Given the description of an element on the screen output the (x, y) to click on. 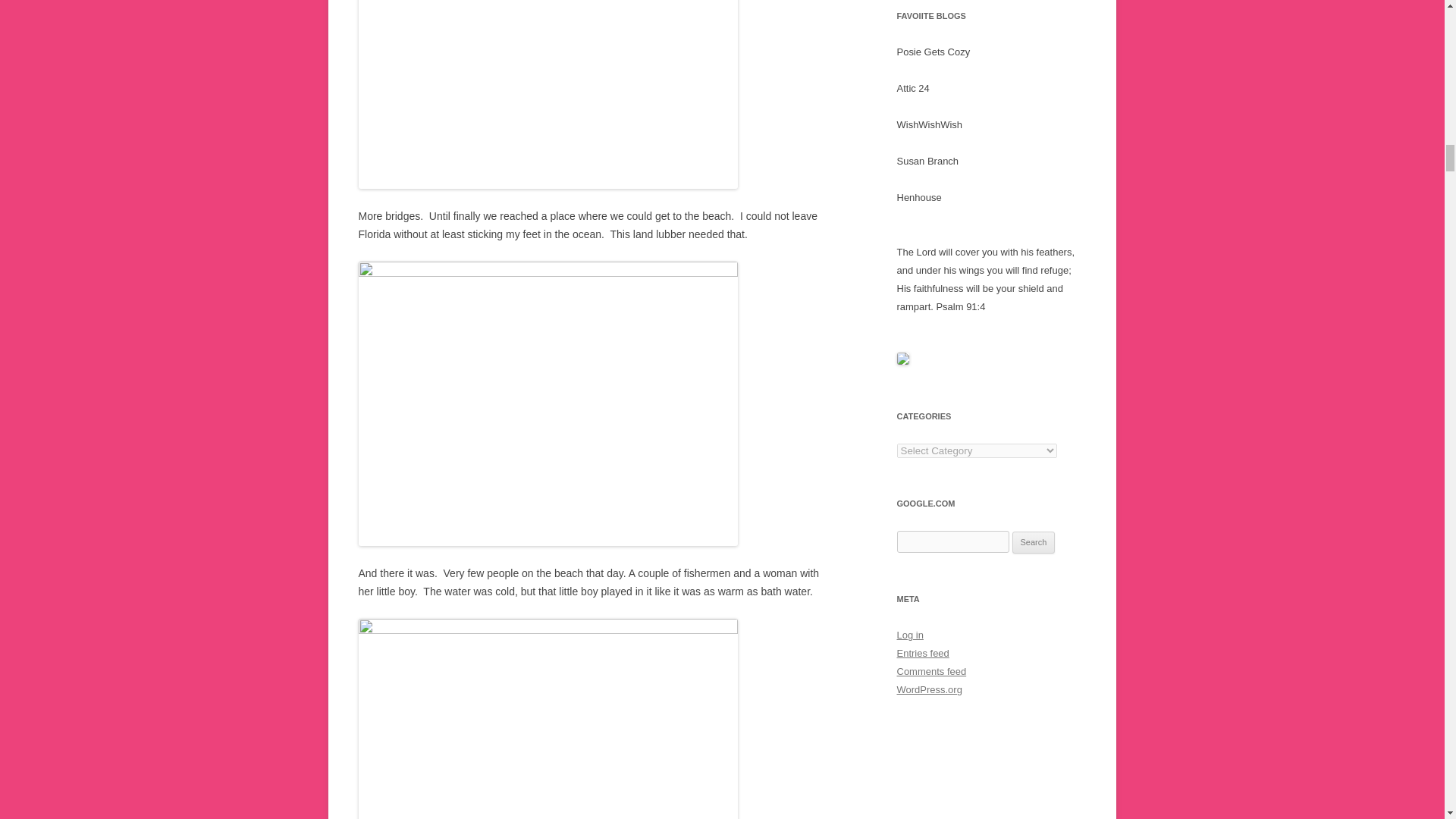
Search (1033, 542)
